Given the description of an element on the screen output the (x, y) to click on. 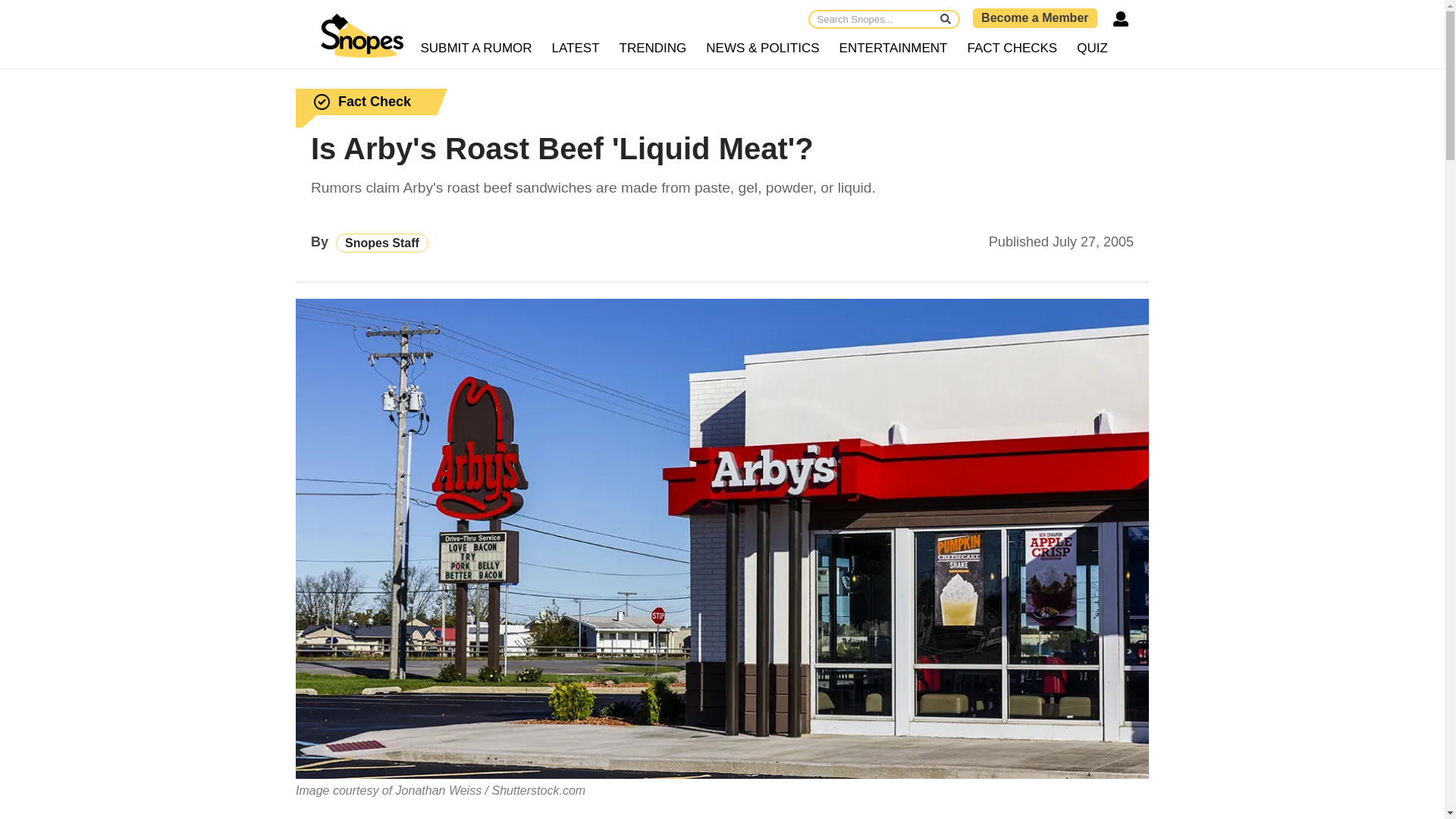
ENTERTAINMENT (893, 47)
QUIZ (1092, 47)
LATEST (576, 47)
FACT CHECKS (1011, 47)
Become a Member (1034, 17)
TRENDING (653, 47)
SUBMIT A RUMOR (475, 47)
Snopes Staff (382, 242)
